Given the description of an element on the screen output the (x, y) to click on. 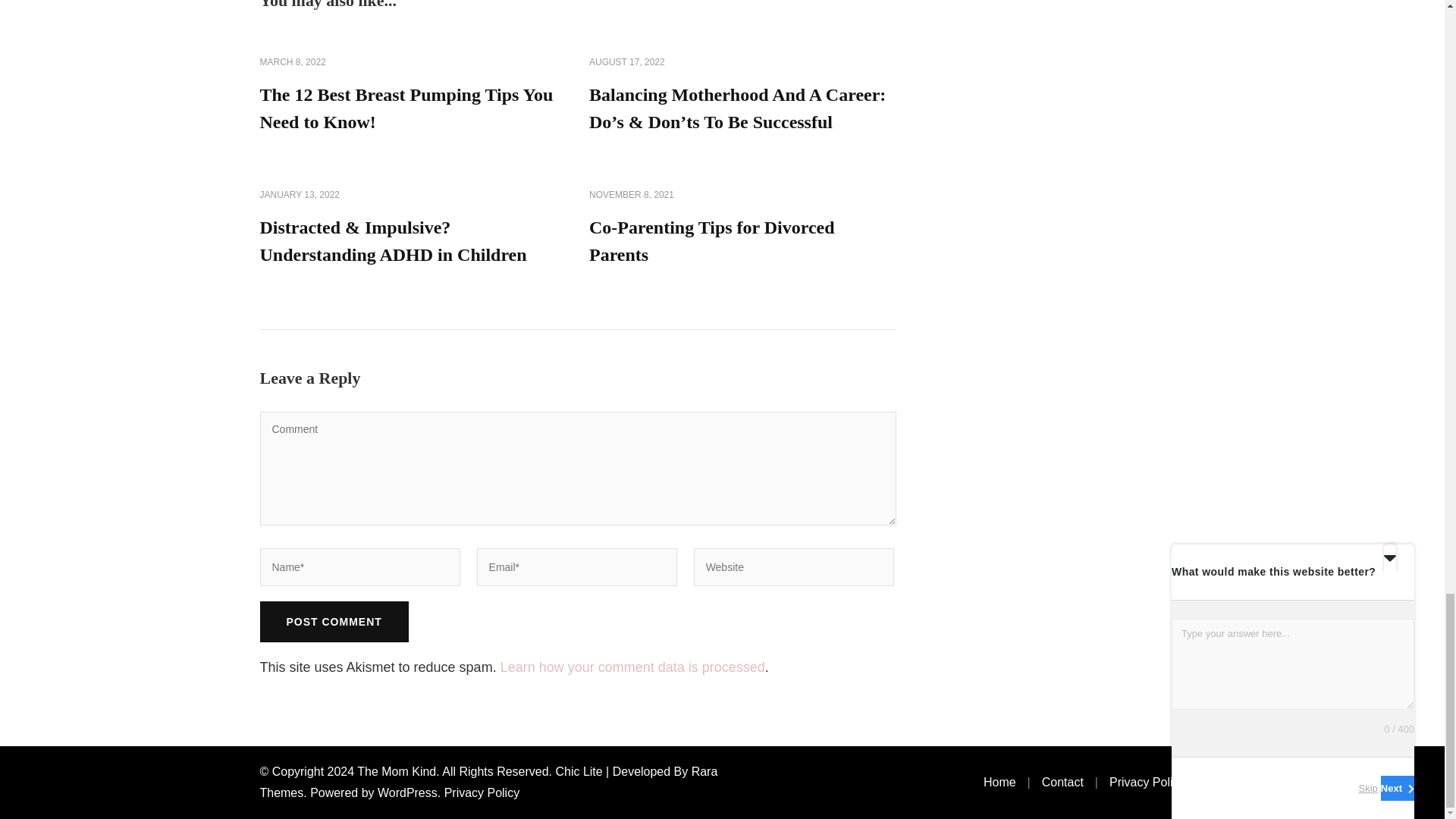
The 12 Best Breast Pumping Tips You Need to Know! (406, 108)
MARCH 8, 2022 (291, 62)
Post Comment (333, 621)
